Given the description of an element on the screen output the (x, y) to click on. 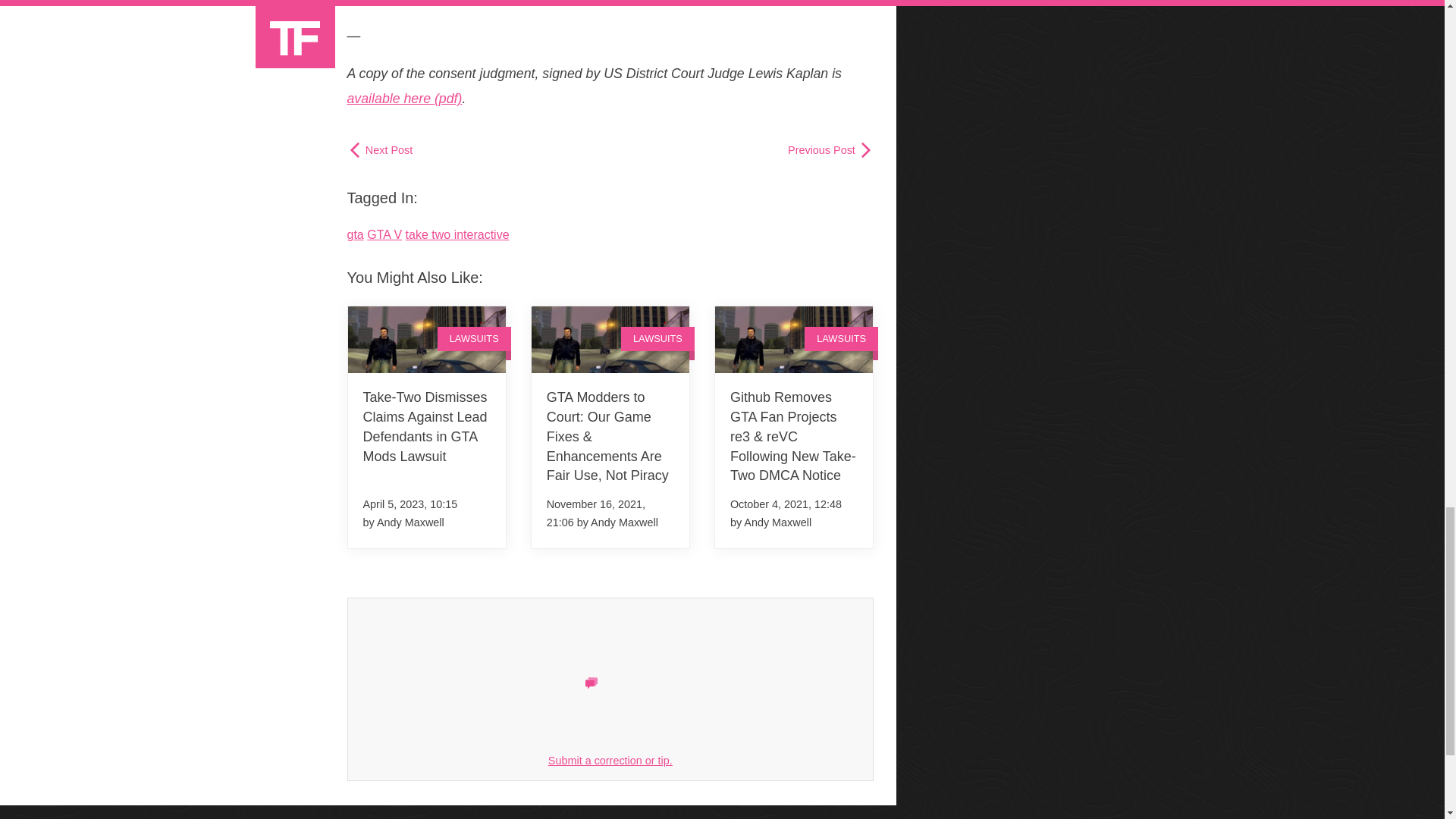
gta (355, 234)
take two interactive (457, 234)
GTA V (383, 234)
Next Post (380, 149)
Submit a correction or tip. (610, 760)
Previous Post (830, 149)
